Given the description of an element on the screen output the (x, y) to click on. 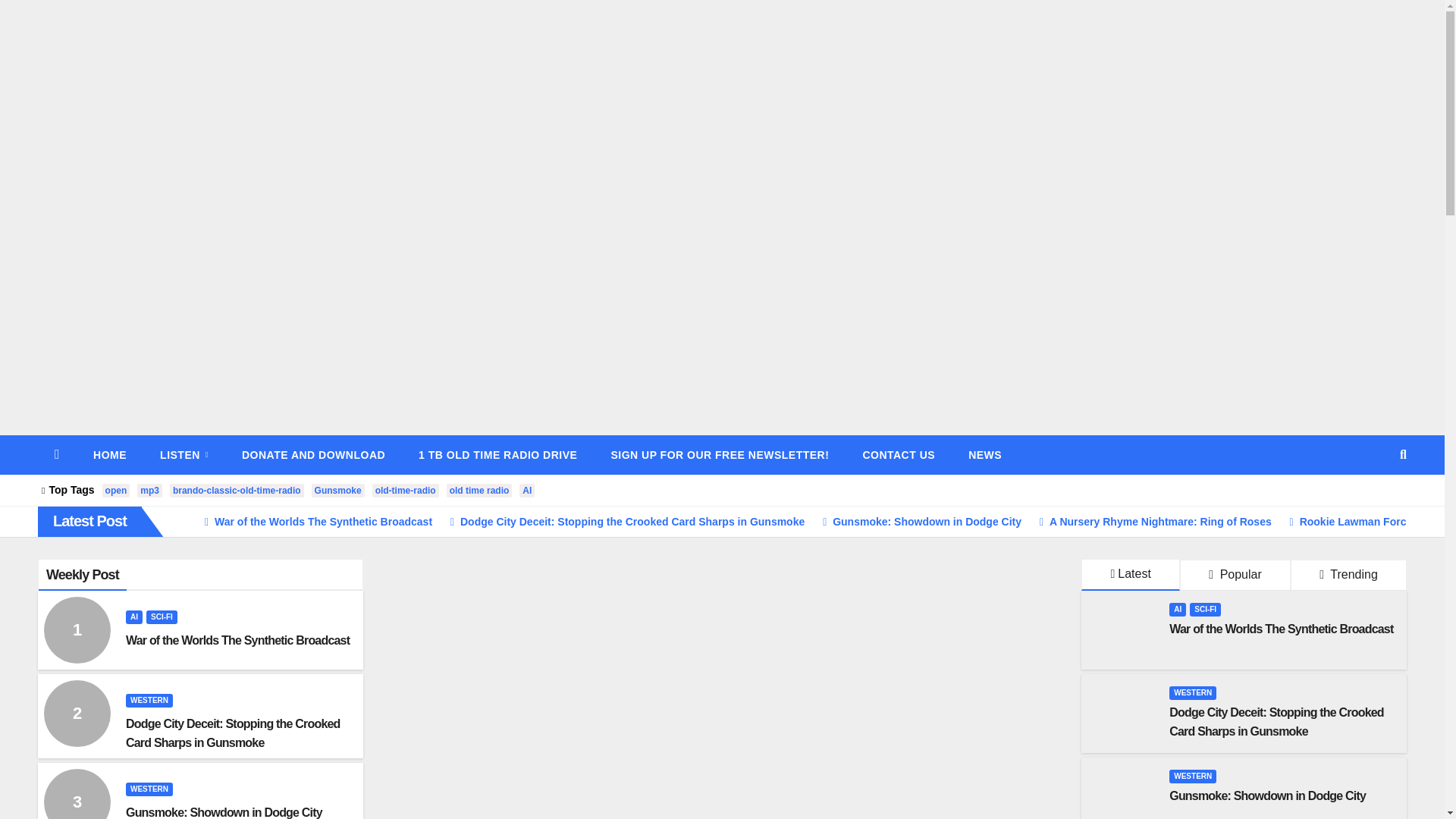
1 TB Old Time Radio Drive (497, 454)
AI (133, 617)
Contact Us (898, 454)
SCI-FI (162, 617)
Listen (183, 454)
NEWS (984, 454)
Donate and Download (313, 454)
War of the Worlds The Synthetic Broadcast (237, 640)
1 TB OLD TIME RADIO DRIVE (497, 454)
